Given the description of an element on the screen output the (x, y) to click on. 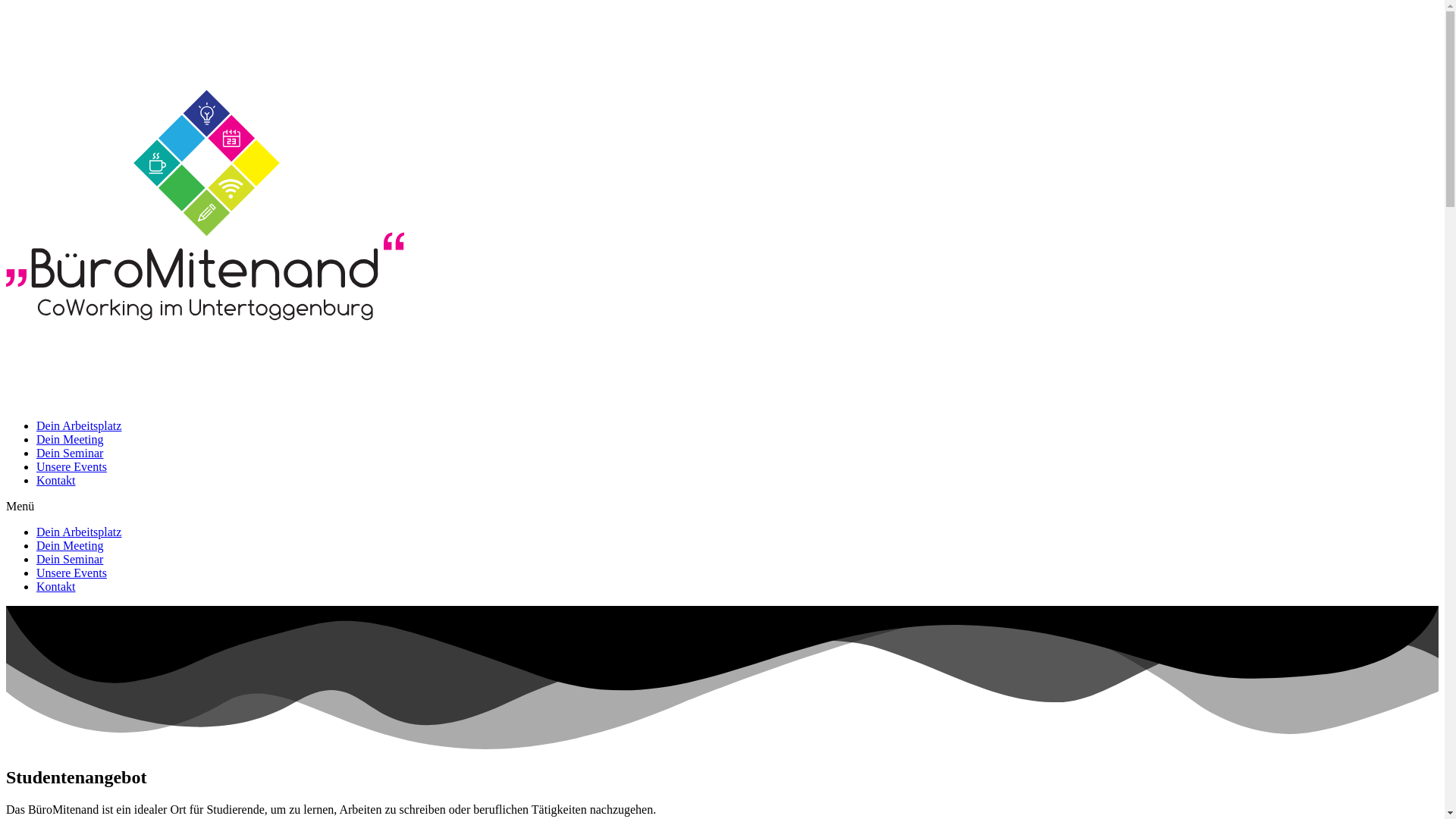
Unsere Events Element type: text (71, 466)
Dein Meeting Element type: text (69, 545)
Kontakt Element type: text (55, 479)
Kontakt Element type: text (55, 586)
Unsere Events Element type: text (71, 572)
Dein Meeting Element type: text (69, 439)
Dein Seminar Element type: text (69, 558)
Dein Arbeitsplatz Element type: text (78, 531)
Dein Arbeitsplatz Element type: text (78, 425)
Dein Seminar Element type: text (69, 452)
